Given the description of an element on the screen output the (x, y) to click on. 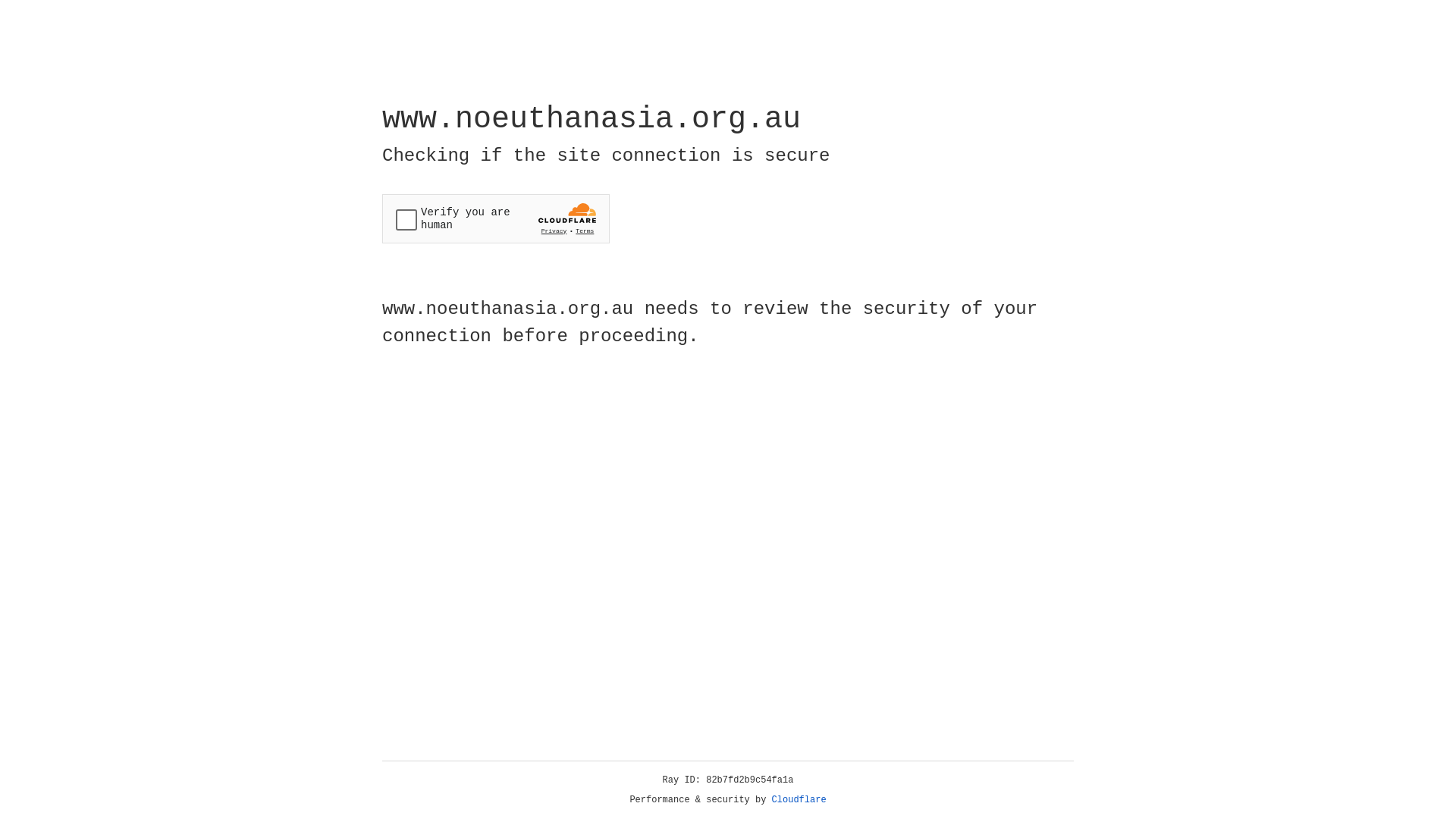
Cloudflare Element type: text (798, 799)
Widget containing a Cloudflare security challenge Element type: hover (495, 218)
